Given the description of an element on the screen output the (x, y) to click on. 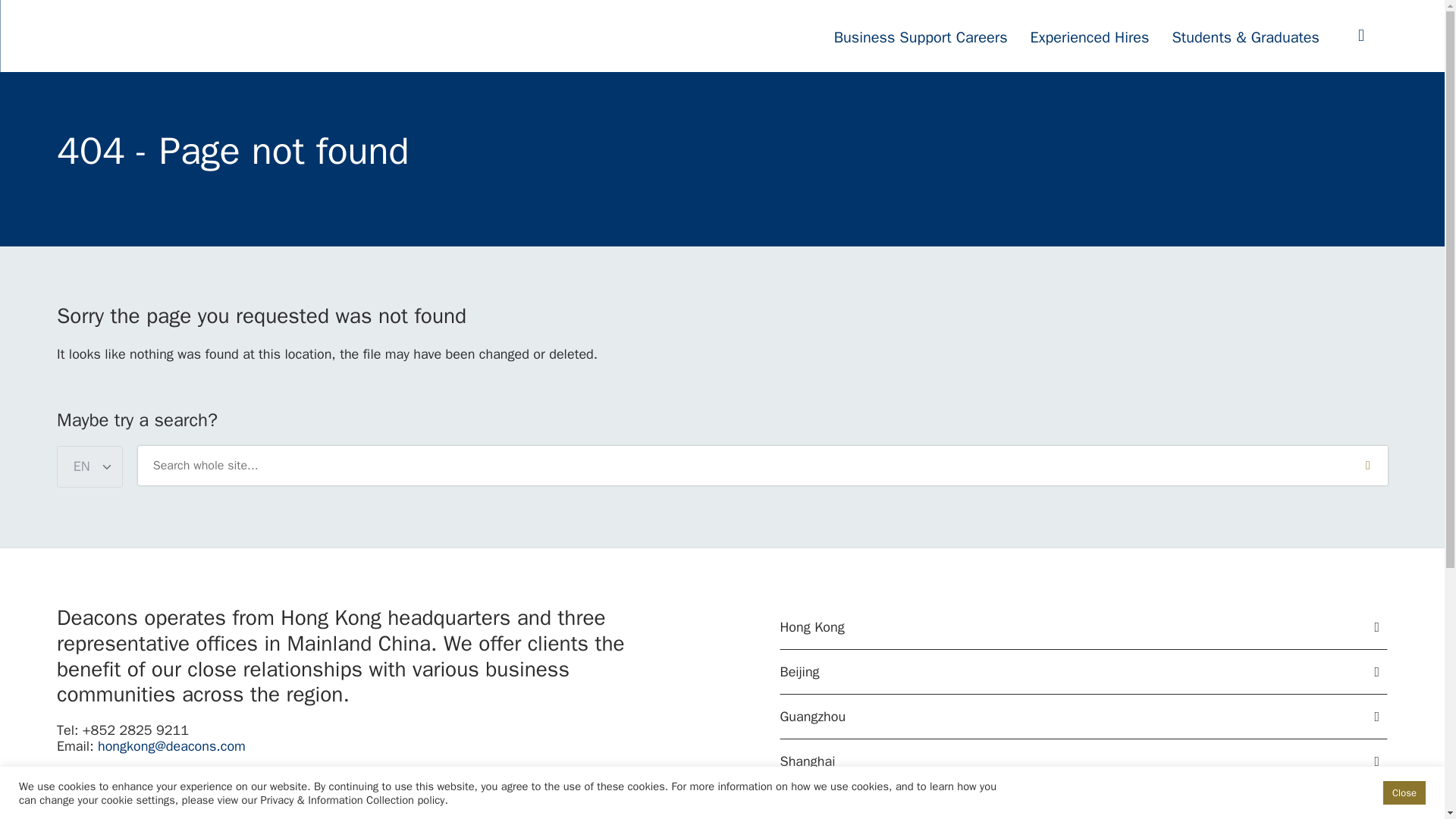
Business Support Careers (920, 37)
Experienced Hires (1089, 37)
Beijing (1083, 672)
Shanghai (1083, 761)
Guangzhou (1083, 716)
Hong Kong (1083, 627)
